Given the description of an element on the screen output the (x, y) to click on. 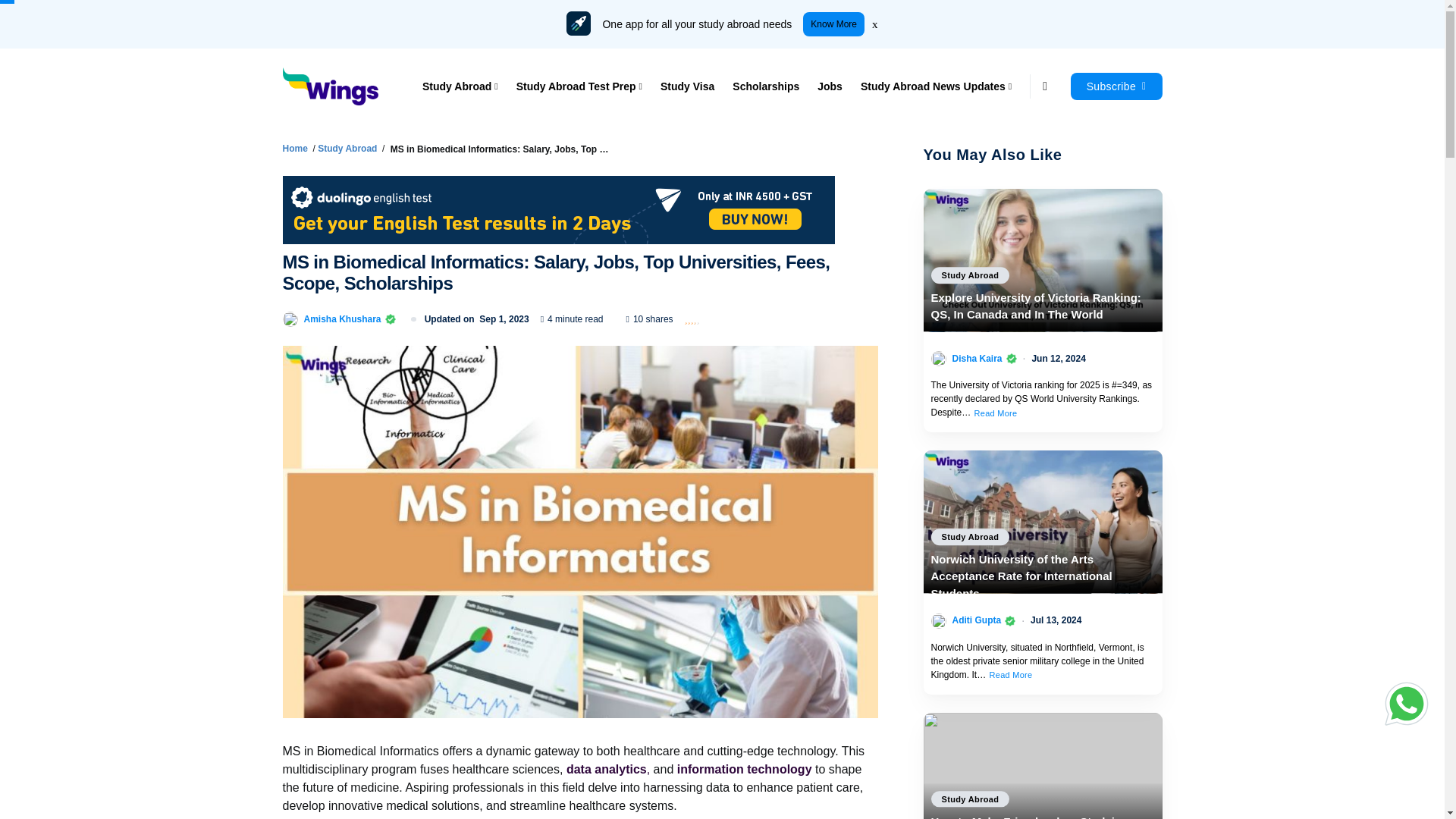
View all posts by Disha Kaira (977, 358)
View all posts by Aditi Gupta (976, 620)
View all posts by Amisha Khushara (341, 318)
